Given the description of an element on the screen output the (x, y) to click on. 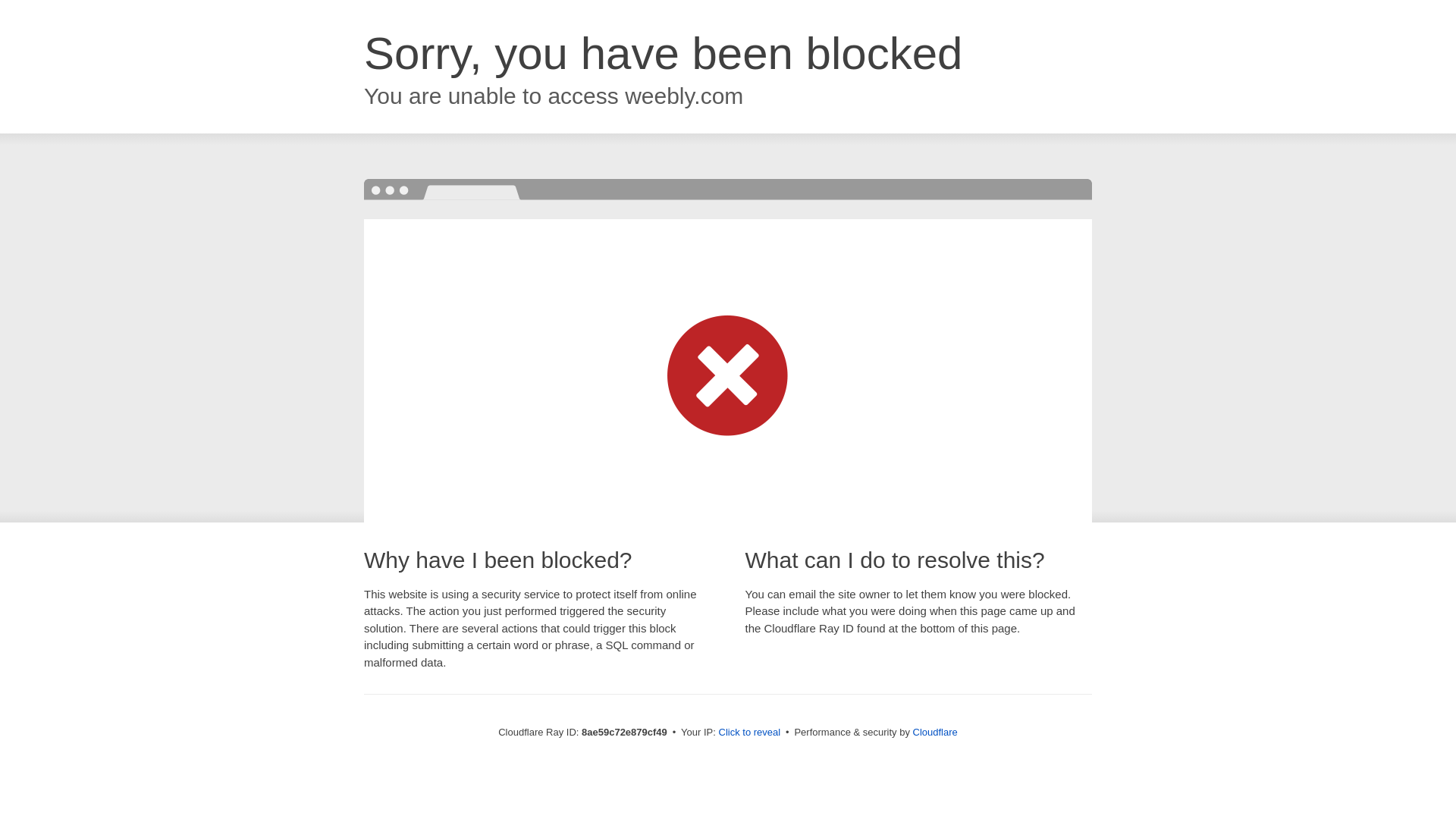
Click to reveal (749, 732)
Cloudflare (935, 731)
